Given the description of an element on the screen output the (x, y) to click on. 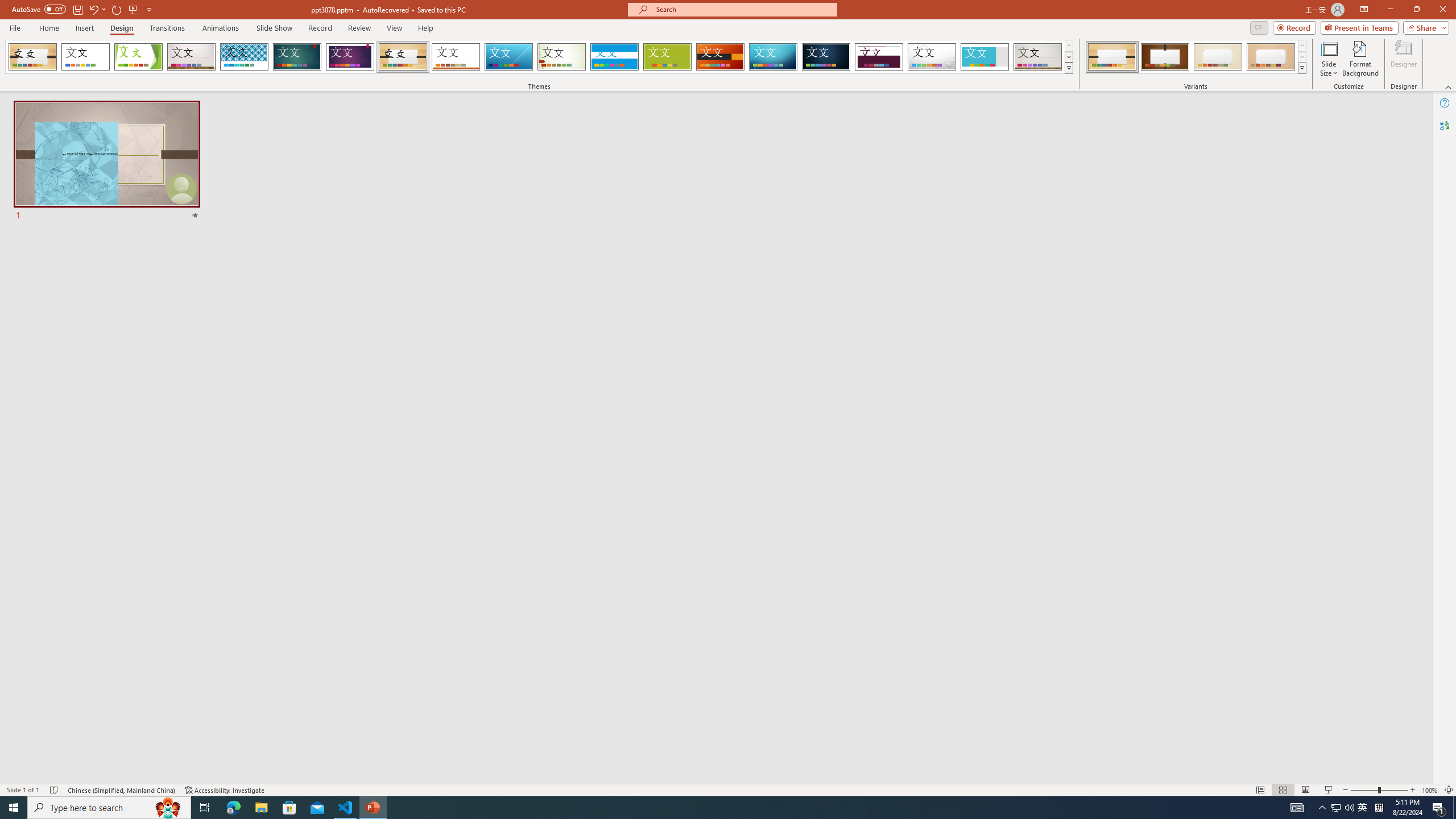
Dividend (879, 56)
AutomationID: SlideThemesGallery (539, 56)
Zoom 100% (1430, 790)
Circuit (772, 56)
Integral (244, 56)
Office Theme (85, 56)
